Given the description of an element on the screen output the (x, y) to click on. 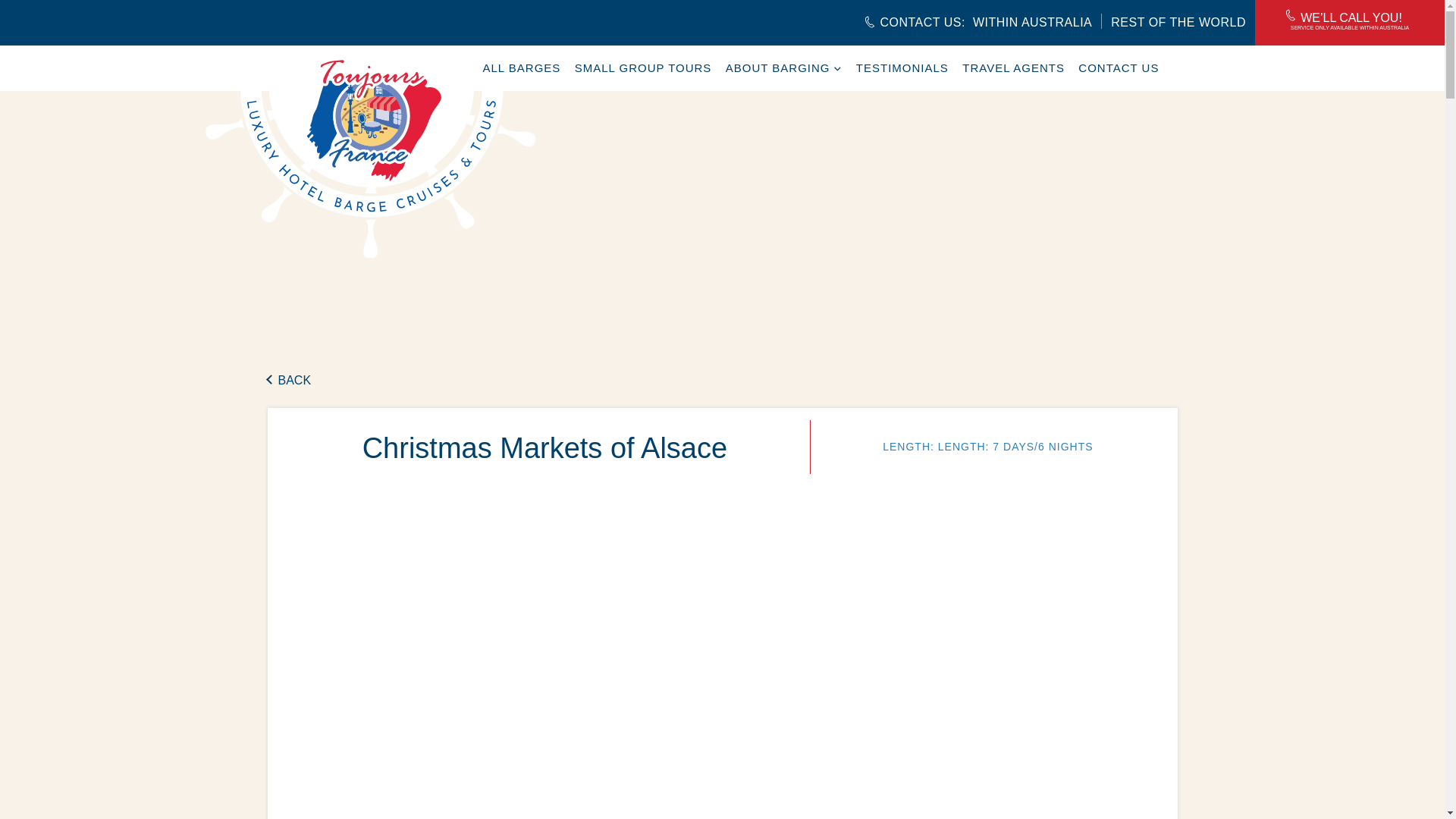
BACK (288, 380)
TESTIMONIALS (902, 67)
ABOUT BARGING (784, 67)
REST OF THE WORLD (1169, 22)
CONTACT US (976, 22)
SMALL GROUP TOURS (1118, 67)
ALL BARGES (643, 67)
TRAVEL AGENTS (520, 67)
